Given the description of an element on the screen output the (x, y) to click on. 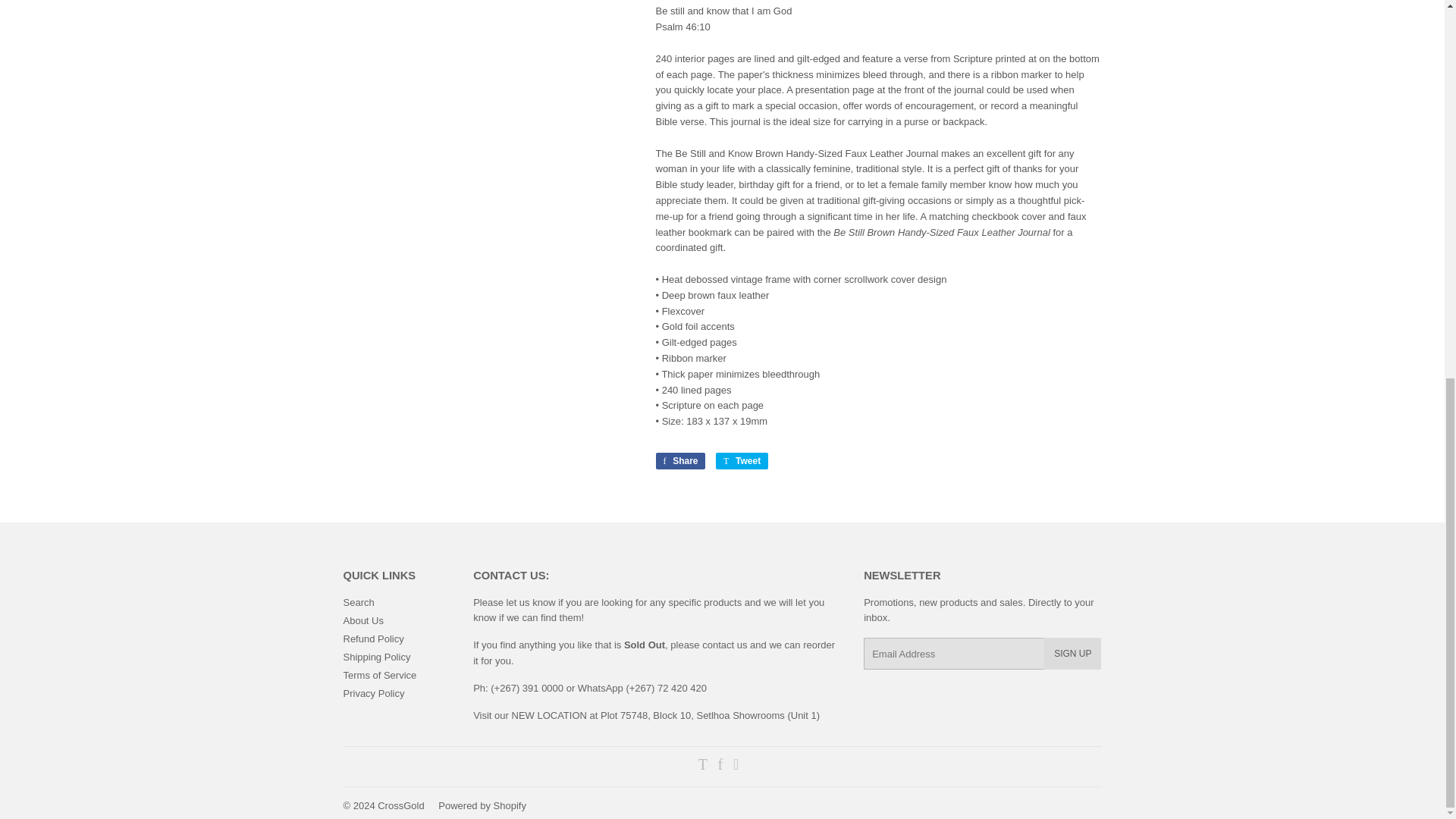
Tweet on Twitter (742, 460)
Share on Facebook (679, 460)
